Given the description of an element on the screen output the (x, y) to click on. 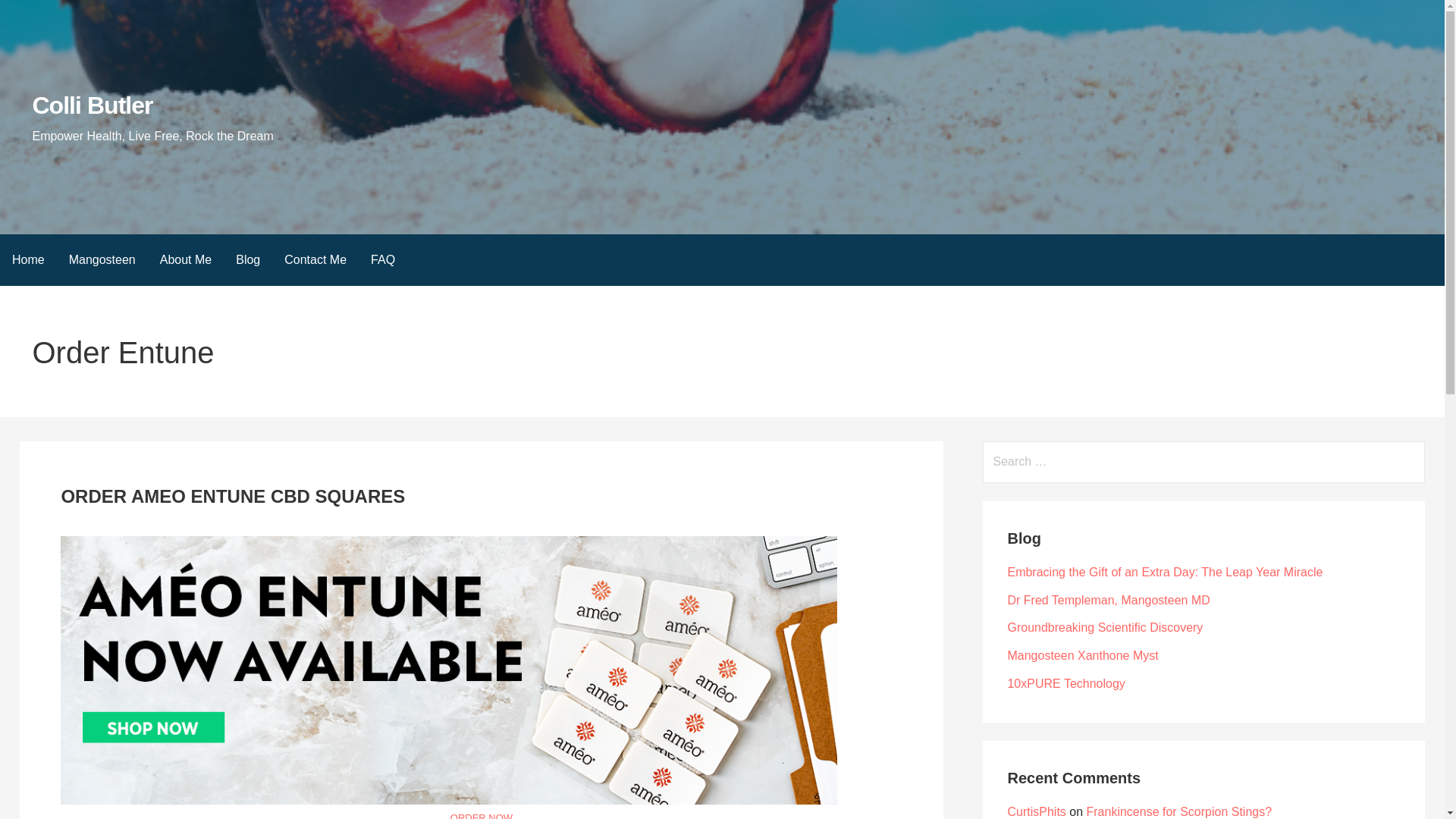
Frankincense for Scorpion Stings? (1179, 811)
Embracing the Gift of an Extra Day: The Leap Year Miracle (1164, 571)
Search (31, 15)
Blog (248, 259)
Contact Me (315, 259)
10xPURE Technology (1065, 683)
Home (28, 259)
Dr Fred Templeman, Mangosteen MD (1108, 599)
CurtisPhits (1036, 811)
FAQ (382, 259)
Mangosteen (102, 259)
About Me (186, 259)
Groundbreaking Scientific Discovery (1104, 626)
Mangosteen Xanthone Myst (1082, 655)
Colli Butler (92, 104)
